Given the description of an element on the screen output the (x, y) to click on. 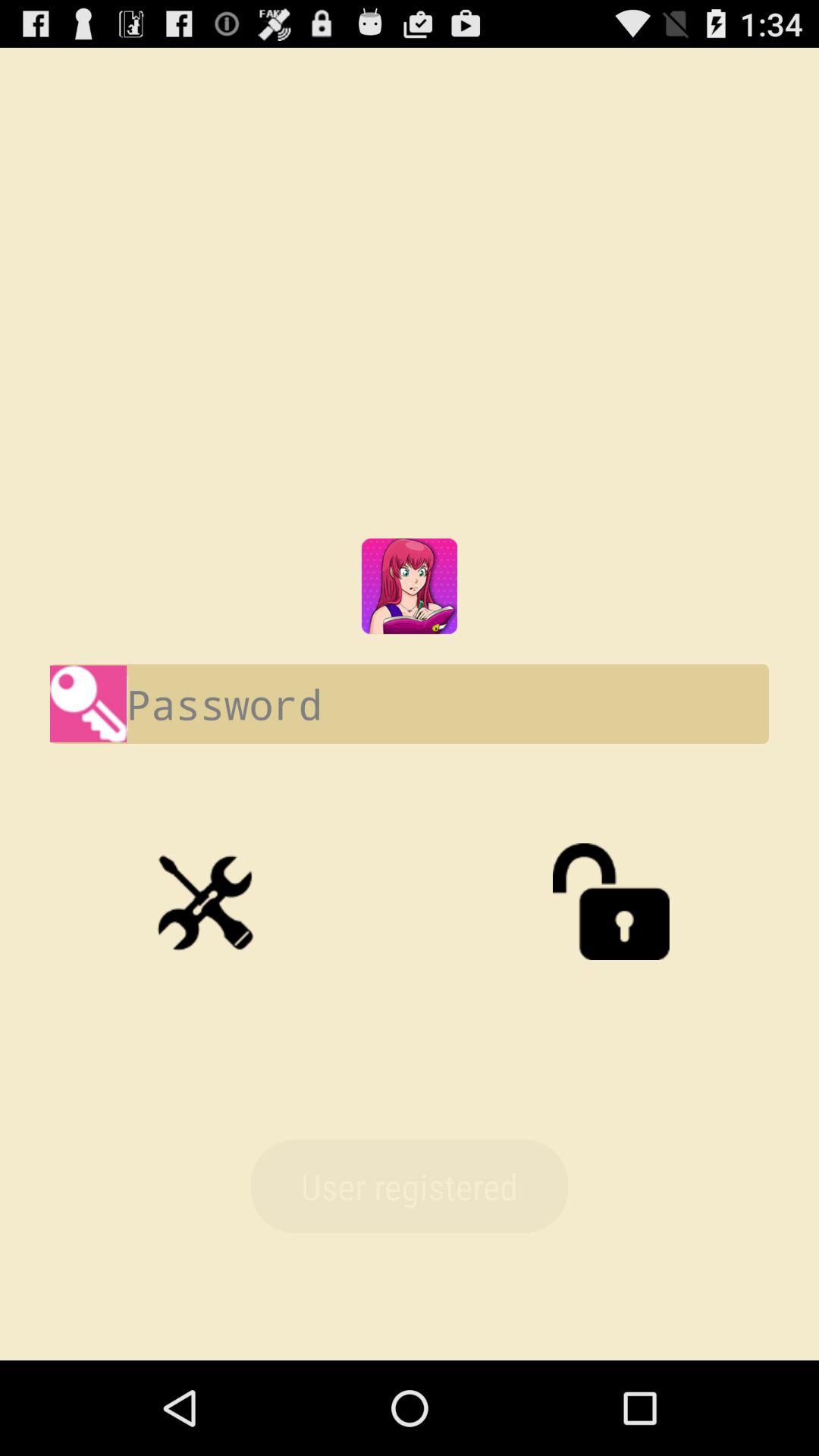
enter password (409, 703)
